Given the description of an element on the screen output the (x, y) to click on. 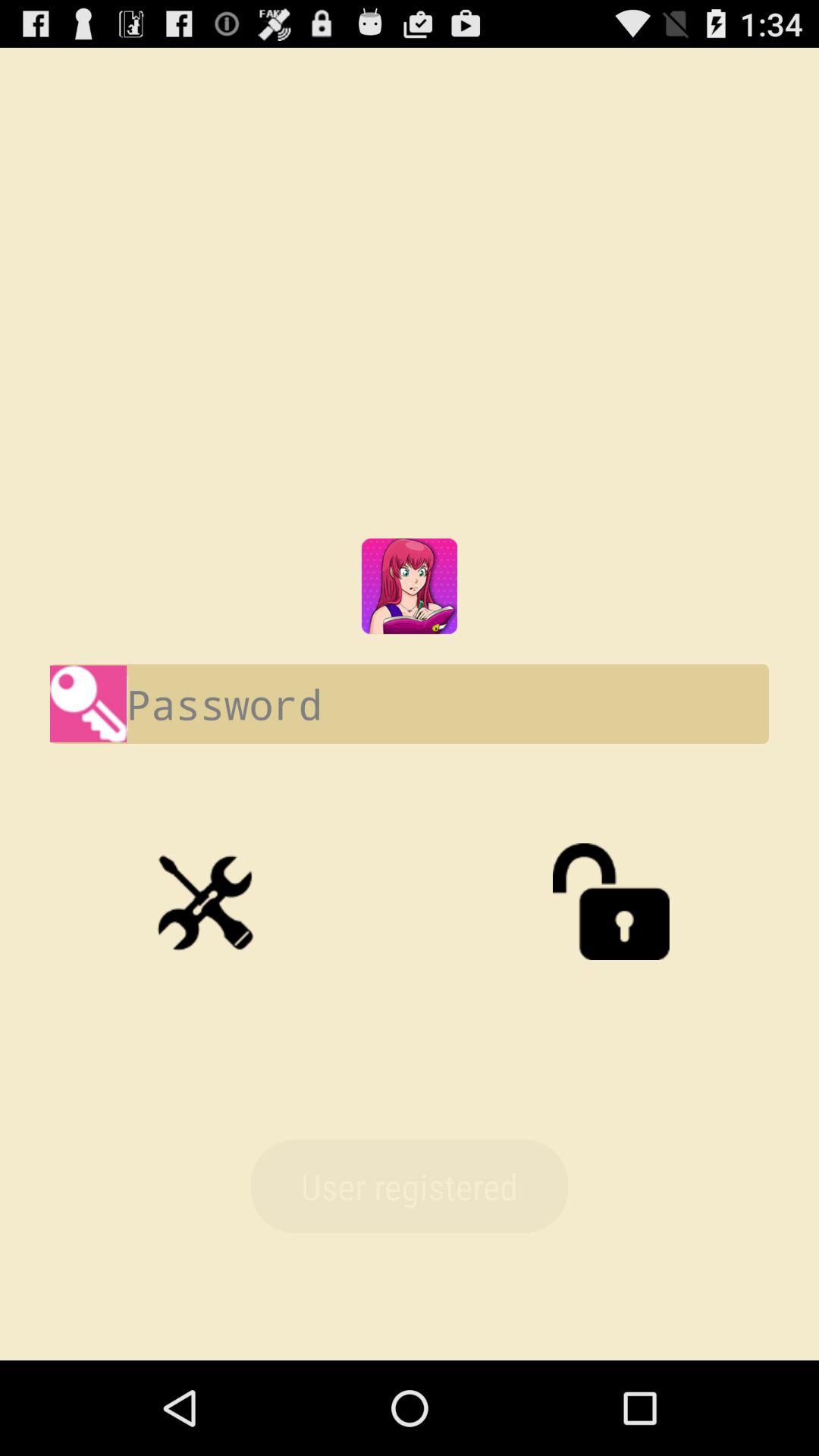
enter password (409, 703)
